Given the description of an element on the screen output the (x, y) to click on. 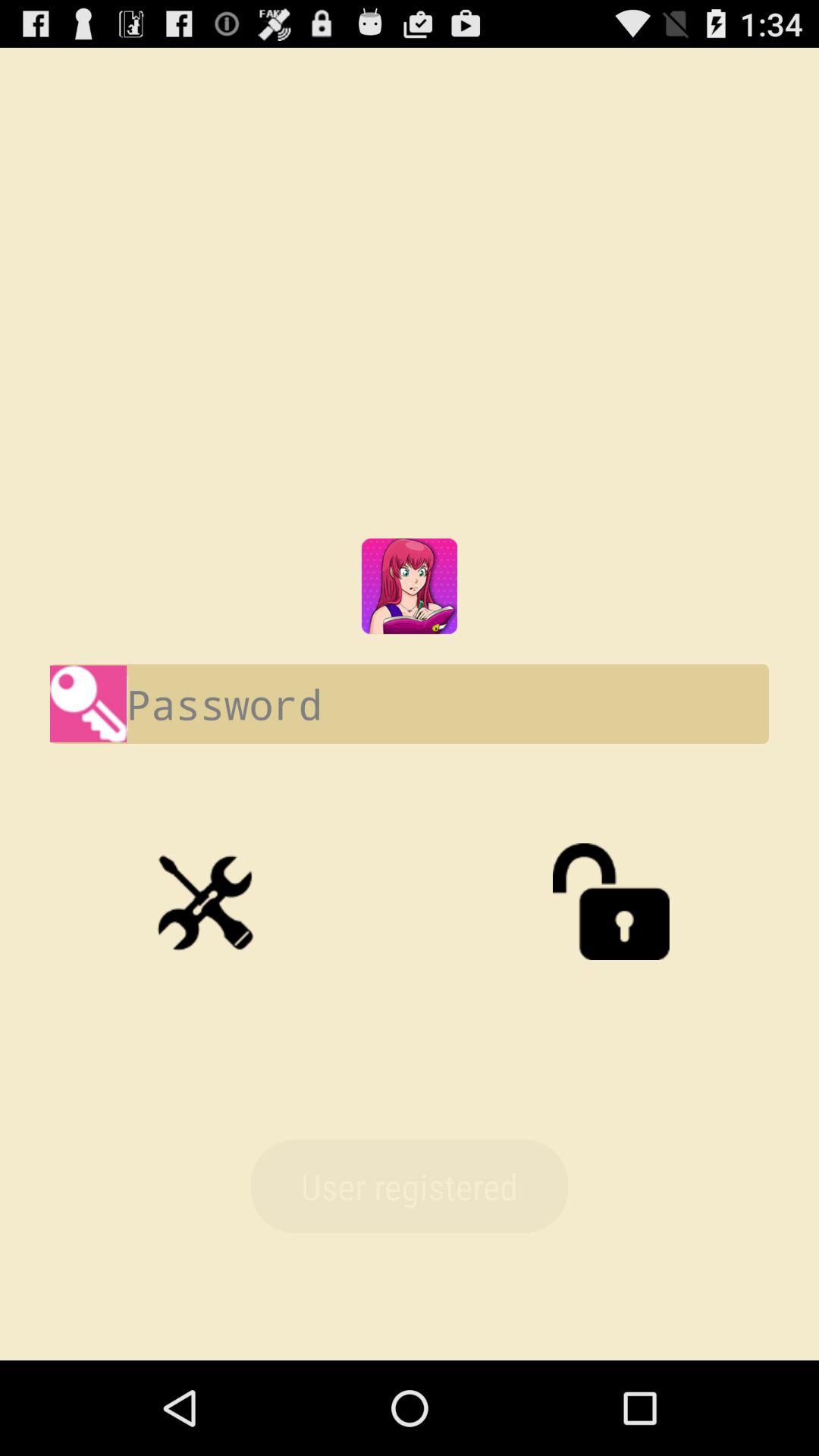
enter password (409, 703)
